Given the description of an element on the screen output the (x, y) to click on. 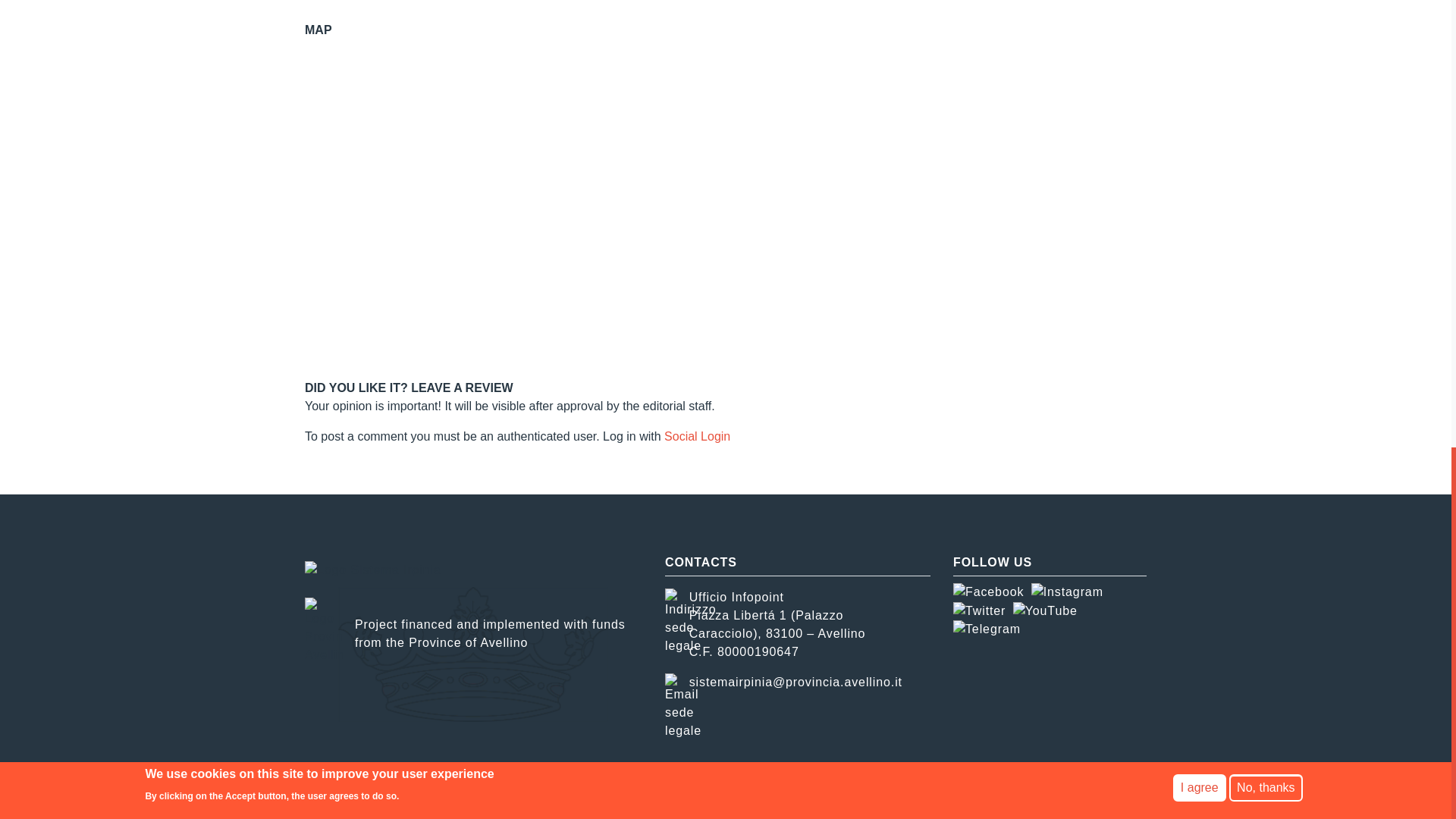
Go to Social Login (696, 436)
